Given the description of an element on the screen output the (x, y) to click on. 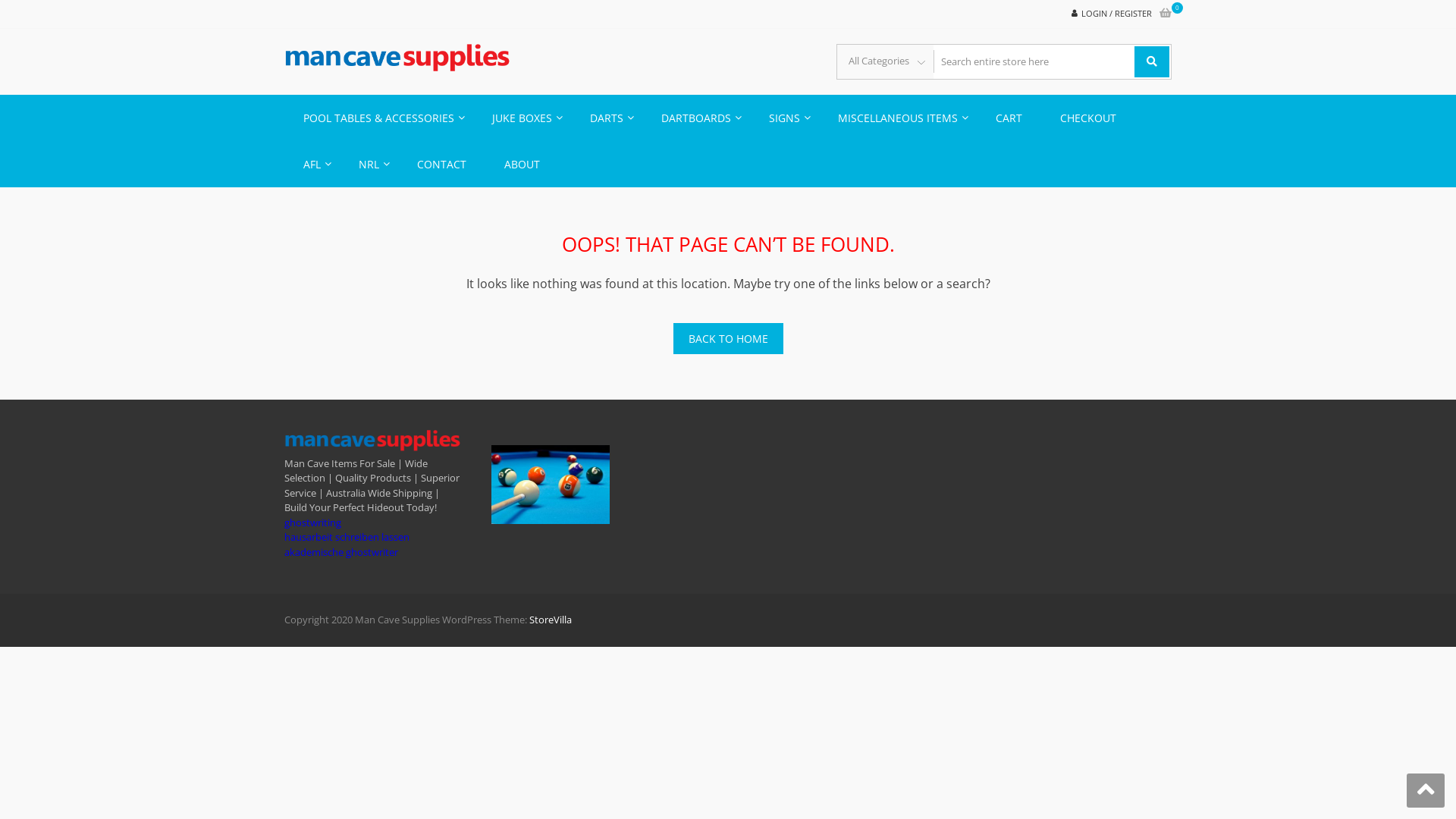
CONTACT Element type: text (441, 164)
StoreVilla Element type: text (550, 619)
hausarbeit schreiben lassen Element type: text (346, 536)
MAN CAVE SUPPLIES Element type: text (653, 71)
CHECKOUT Element type: text (1088, 117)
AFL Element type: text (311, 164)
MISCELLANEOUS ITEMS Element type: text (897, 117)
akademische ghostwriter Element type: text (341, 551)
SIGNS Element type: text (784, 117)
BACK TO HOME Element type: text (728, 338)
LOGIN / REGISTER Element type: text (1116, 14)
JUKE BOXES Element type: text (522, 117)
0 Element type: text (1165, 14)
POOL TABLES & ACCESSORIES Element type: text (378, 117)
CART Element type: text (1008, 117)
ghostwriting Element type: text (312, 522)
NRL Element type: text (368, 164)
ABOUT Element type: text (521, 164)
DARTS Element type: text (606, 117)
DARTBOARDS Element type: text (695, 117)
